Given the description of an element on the screen output the (x, y) to click on. 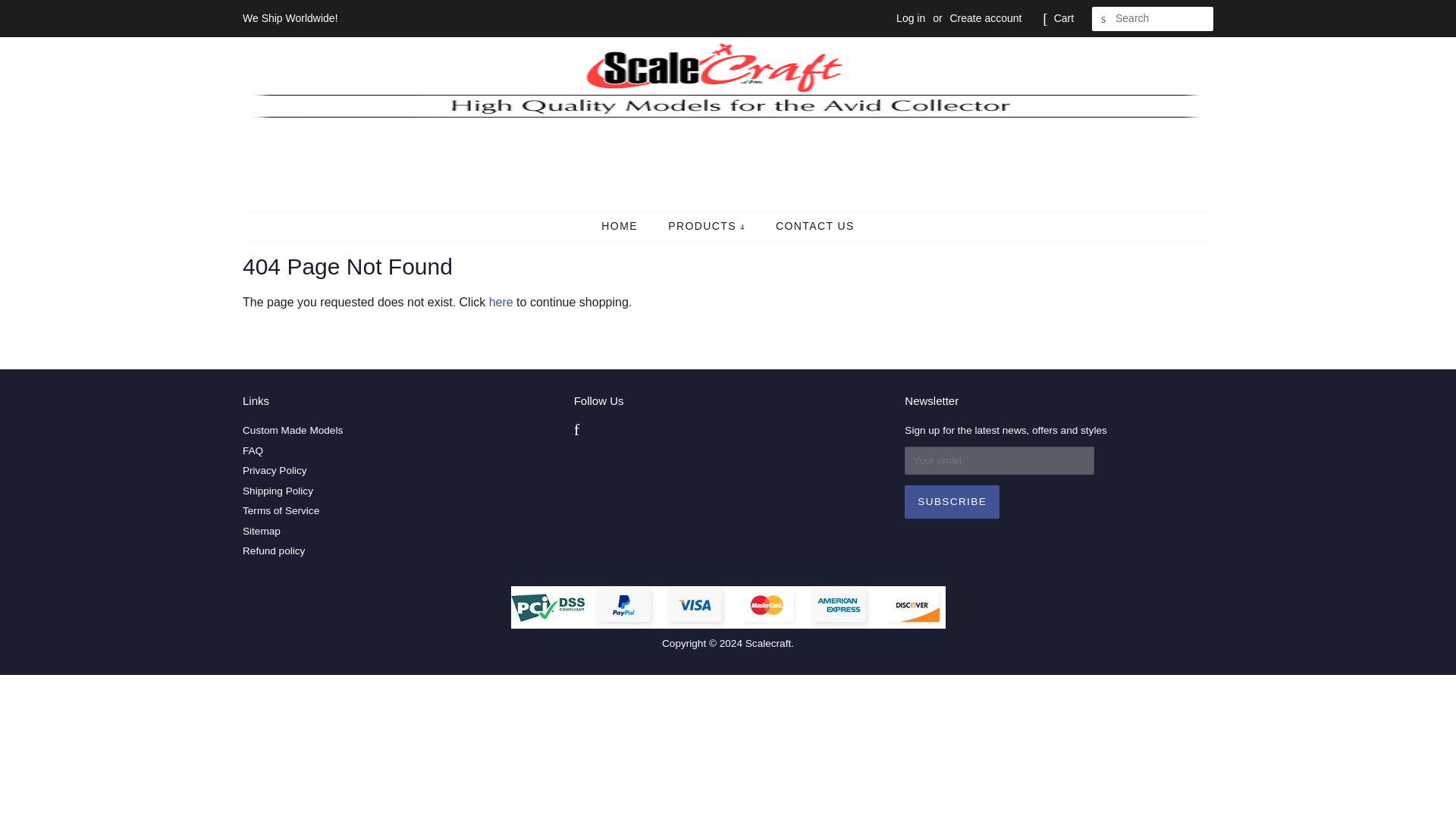
Subscribe (951, 501)
HOME (626, 226)
Cart (1064, 18)
Log in (910, 18)
Create account (985, 18)
PRODUCTS (708, 226)
SEARCH (1104, 18)
